Given the description of an element on the screen output the (x, y) to click on. 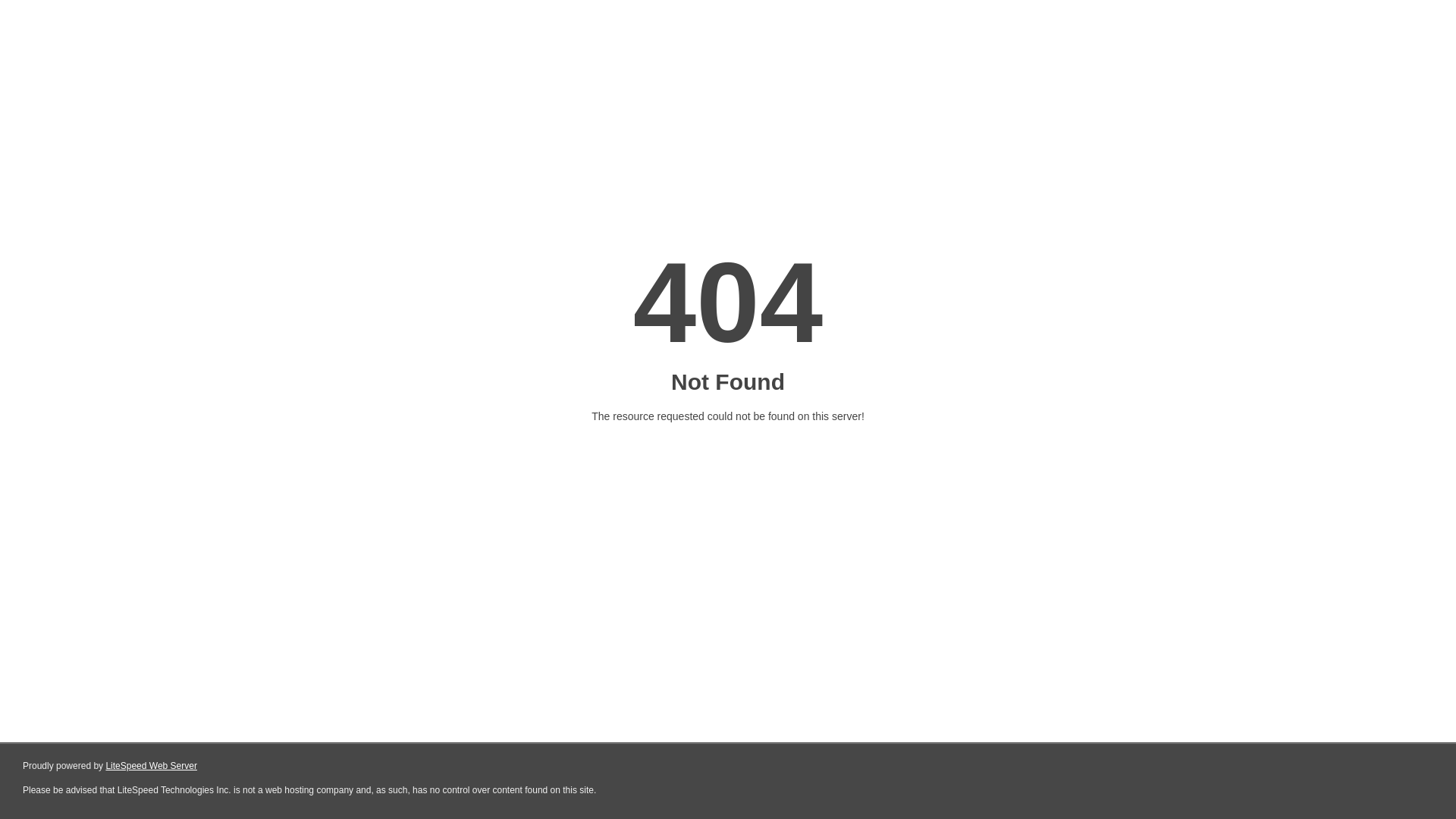
LiteSpeed Web Server Element type: text (151, 765)
